Given the description of an element on the screen output the (x, y) to click on. 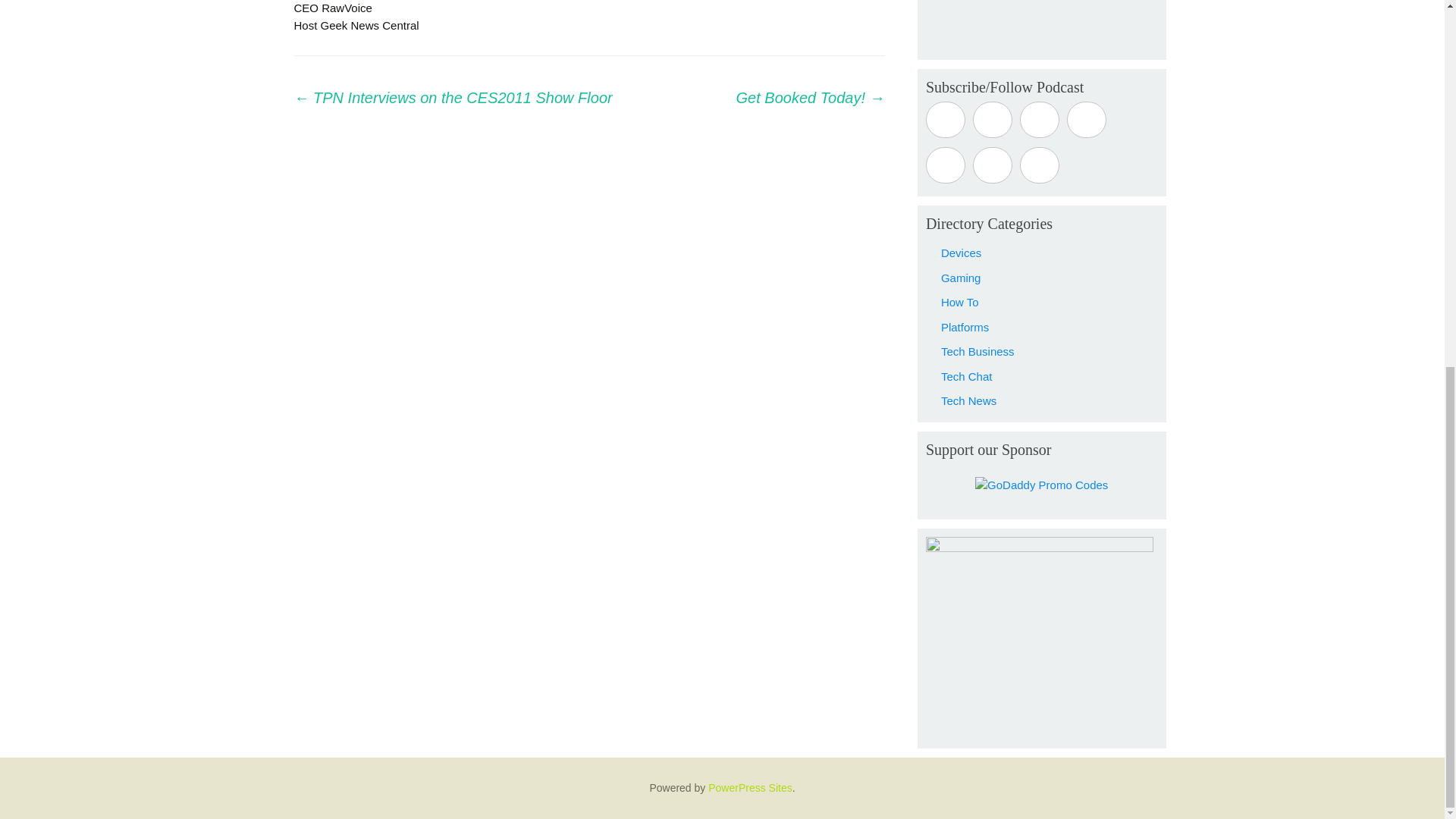
Tech Business (977, 350)
Gaming (960, 277)
Devices (960, 252)
Tech Chat (966, 375)
More Subscribe Options (1039, 165)
Platforms (964, 327)
Subscribe on Blubrry (1039, 119)
How To (959, 301)
Subscribe on Podcast Index (1086, 119)
Subscribe via RSS (991, 165)
